Given the description of an element on the screen output the (x, y) to click on. 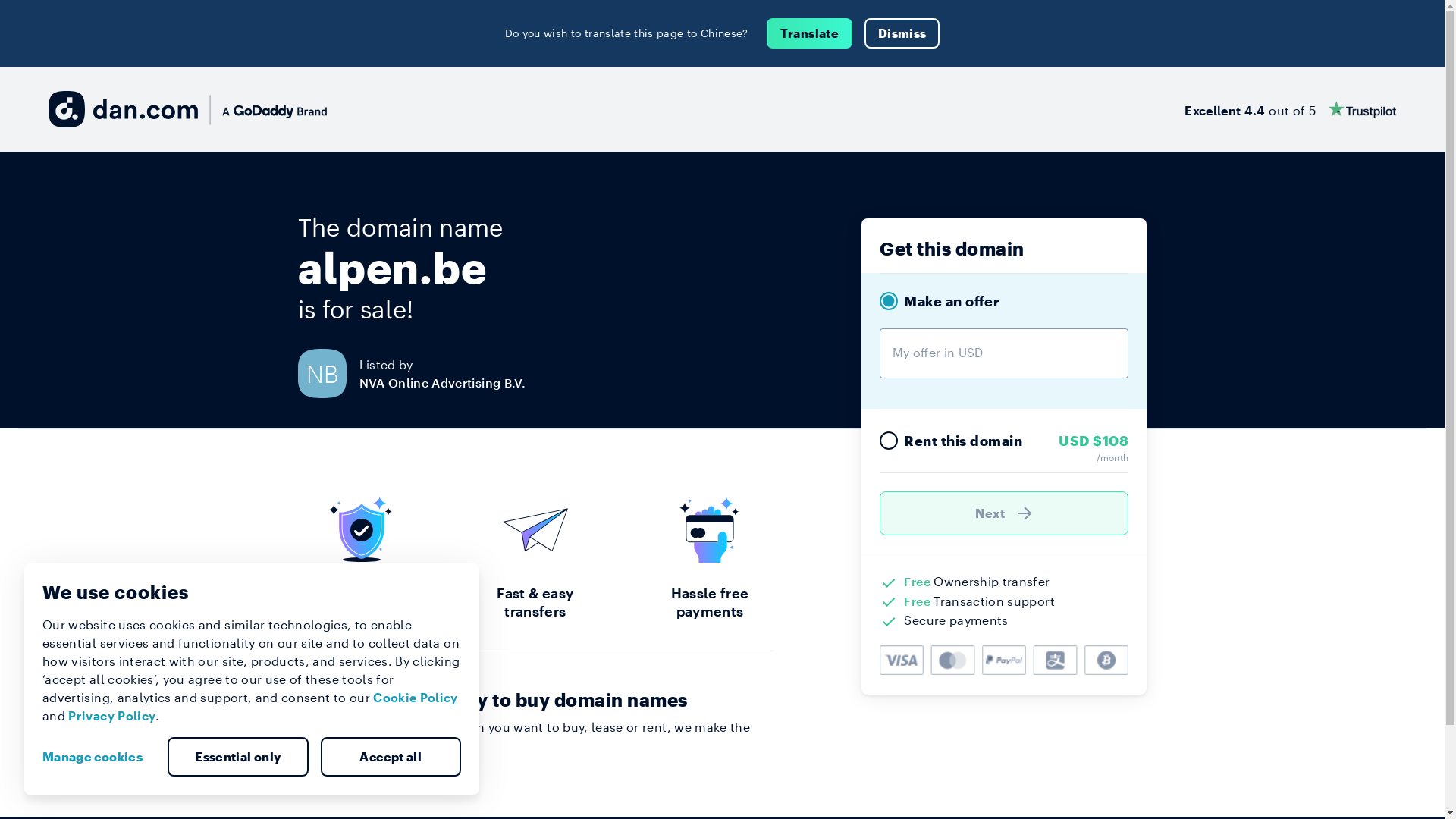
Next
) Element type: text (1003, 513)
Excellent 4.4 out of 5 Element type: text (1290, 109)
Translate Element type: text (809, 33)
Dismiss Element type: text (901, 33)
Cookie Policy Element type: text (415, 697)
Essential only Element type: text (237, 756)
Accept all Element type: text (390, 756)
Manage cookies Element type: text (98, 756)
Privacy Policy Element type: text (111, 715)
